Given the description of an element on the screen output the (x, y) to click on. 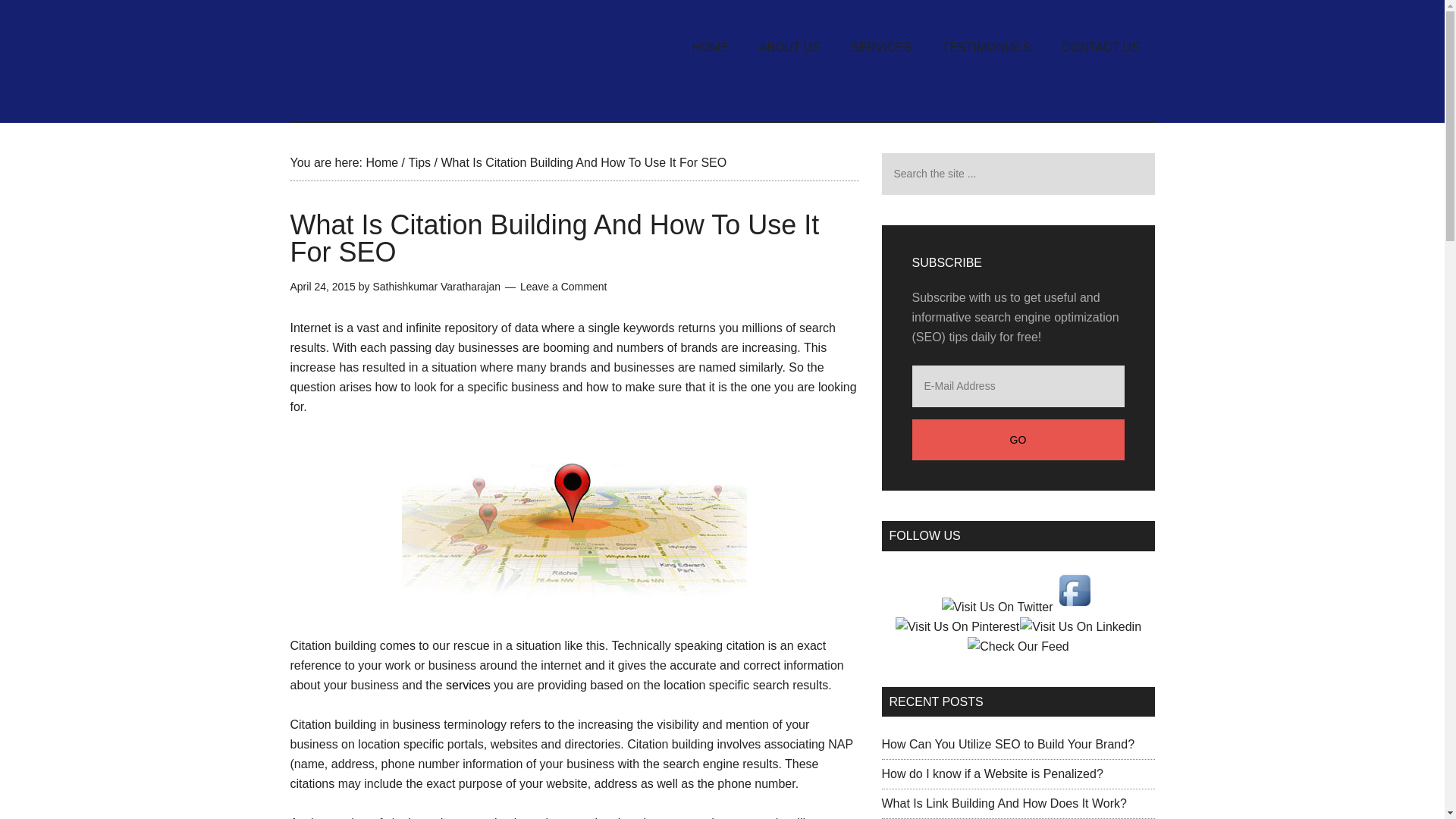
SERVICES (881, 47)
services (467, 684)
How do I know if a Website is Penalized? (991, 773)
Tips (418, 162)
Check Our Feed (1017, 645)
How Can You Utilize SEO to Build Your Brand? (1007, 744)
Go (1017, 440)
CONTACT US (1100, 47)
Visit Us On Twitter (996, 606)
